Given the description of an element on the screen output the (x, y) to click on. 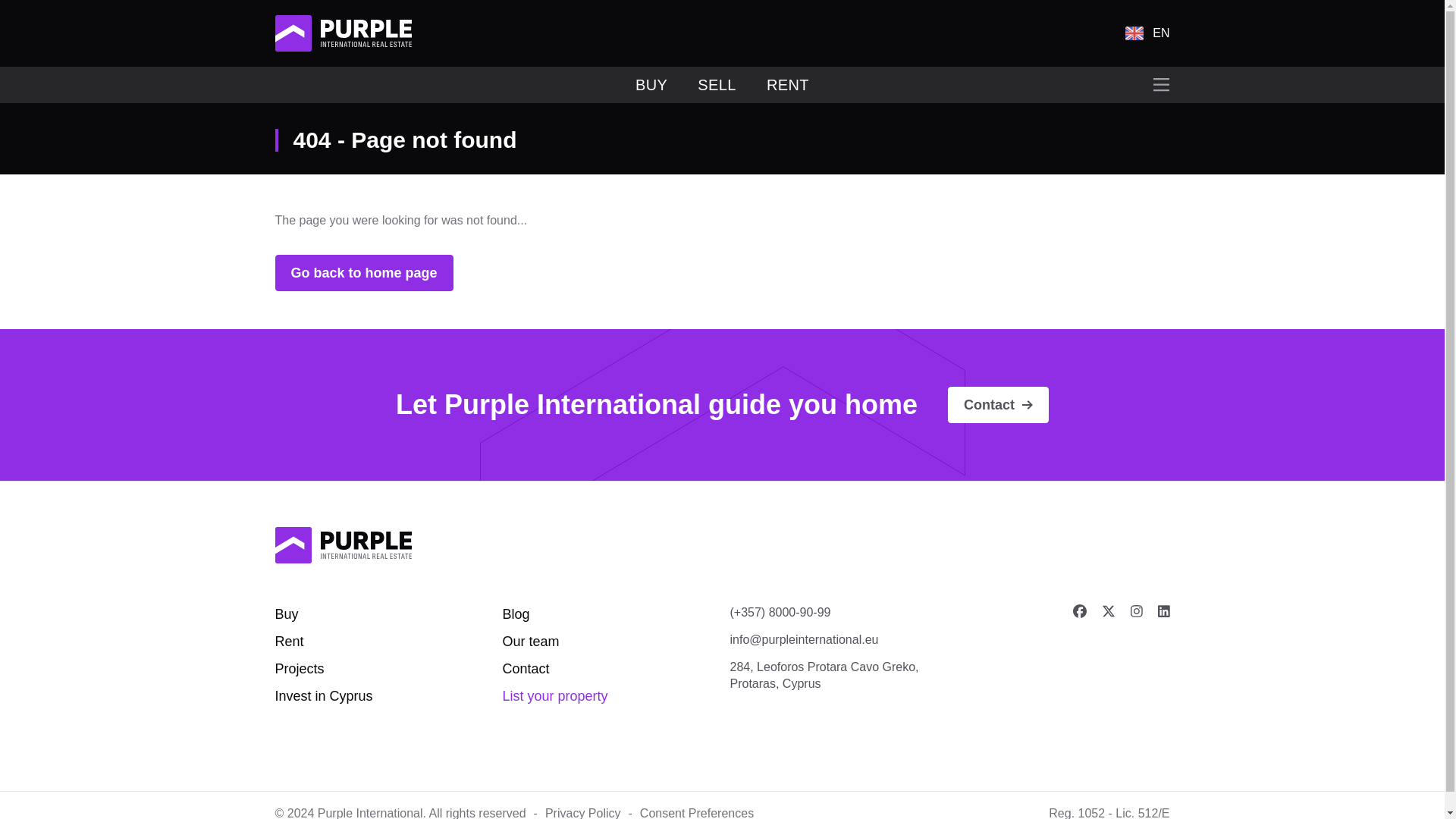
Contact (525, 668)
Projects (299, 668)
EN (1147, 32)
Go back to home page (363, 272)
Buy (286, 613)
Our team (530, 641)
SELL (716, 84)
Blog (515, 613)
List your property (554, 695)
Invest in Cyprus (323, 695)
Consent Preferences (697, 812)
Privacy Policy (582, 812)
Contact (997, 404)
Rent (288, 641)
RENT (788, 84)
